Given the description of an element on the screen output the (x, y) to click on. 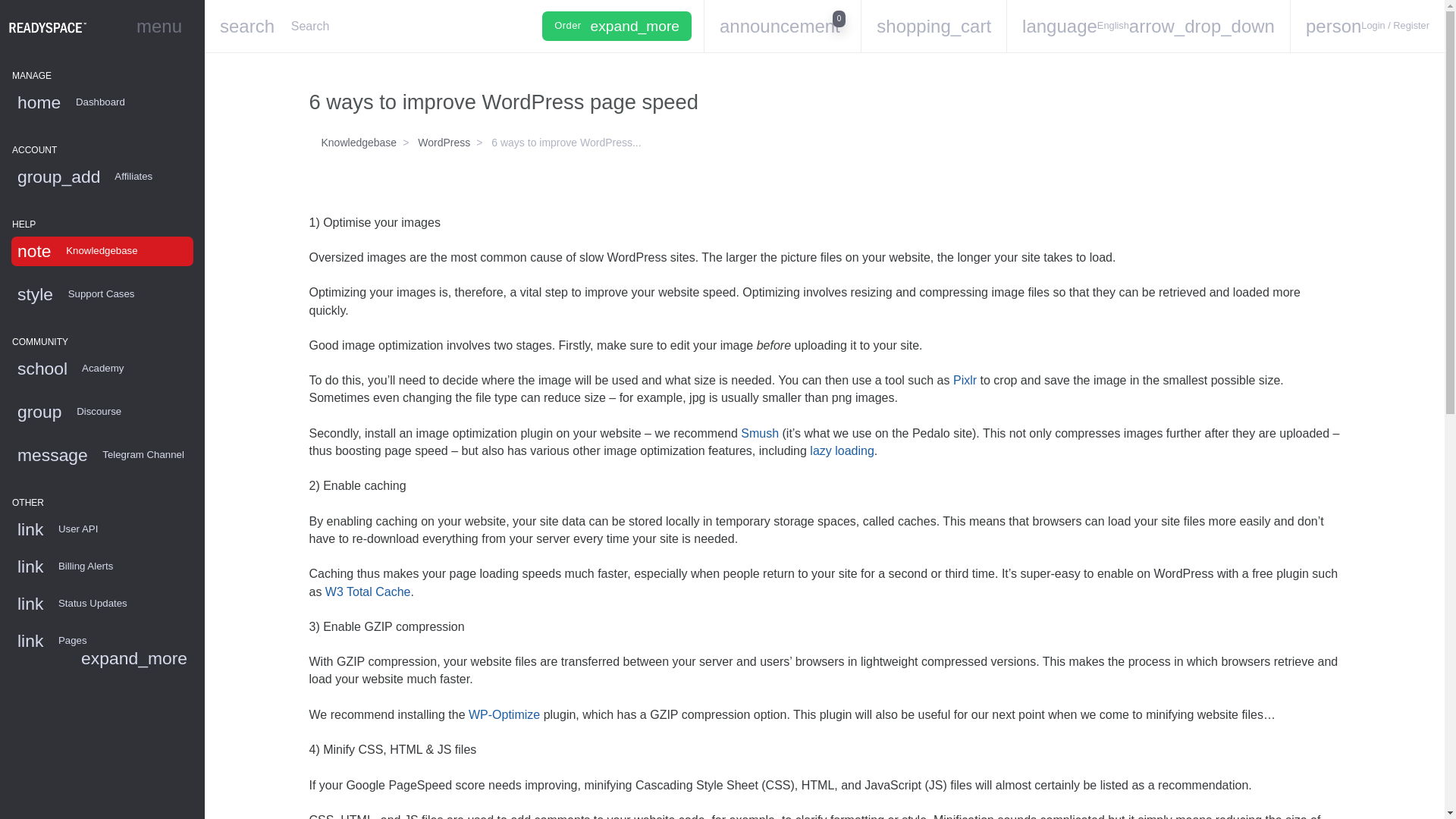
menu (159, 26)
home Dashboard (102, 102)
message Telegram Channel (102, 455)
link Billing Alerts (781, 26)
school Academy (102, 566)
link Status Updates (102, 368)
note Knowledgebase (102, 603)
group Discourse (102, 251)
style Support Cases (102, 411)
